Given the description of an element on the screen output the (x, y) to click on. 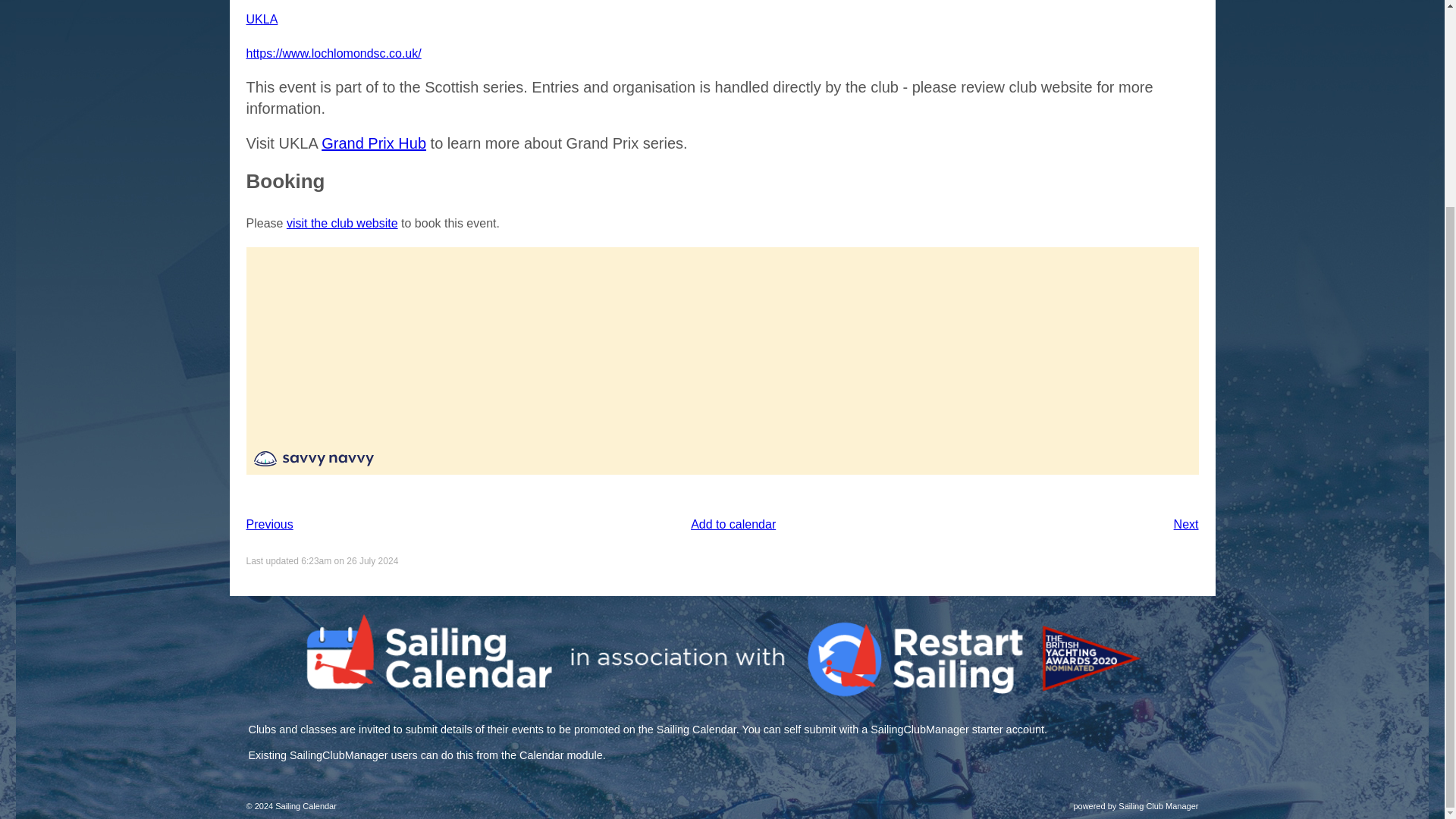
visit the club website (341, 223)
Grand Prix Hub (373, 143)
Next (1185, 524)
UKLA (262, 19)
Previous (269, 524)
SailingClubManager (338, 755)
SailingClubManager starter account (956, 729)
Add to calendar (733, 523)
Sailing Club Manager (1158, 805)
